Given the description of an element on the screen output the (x, y) to click on. 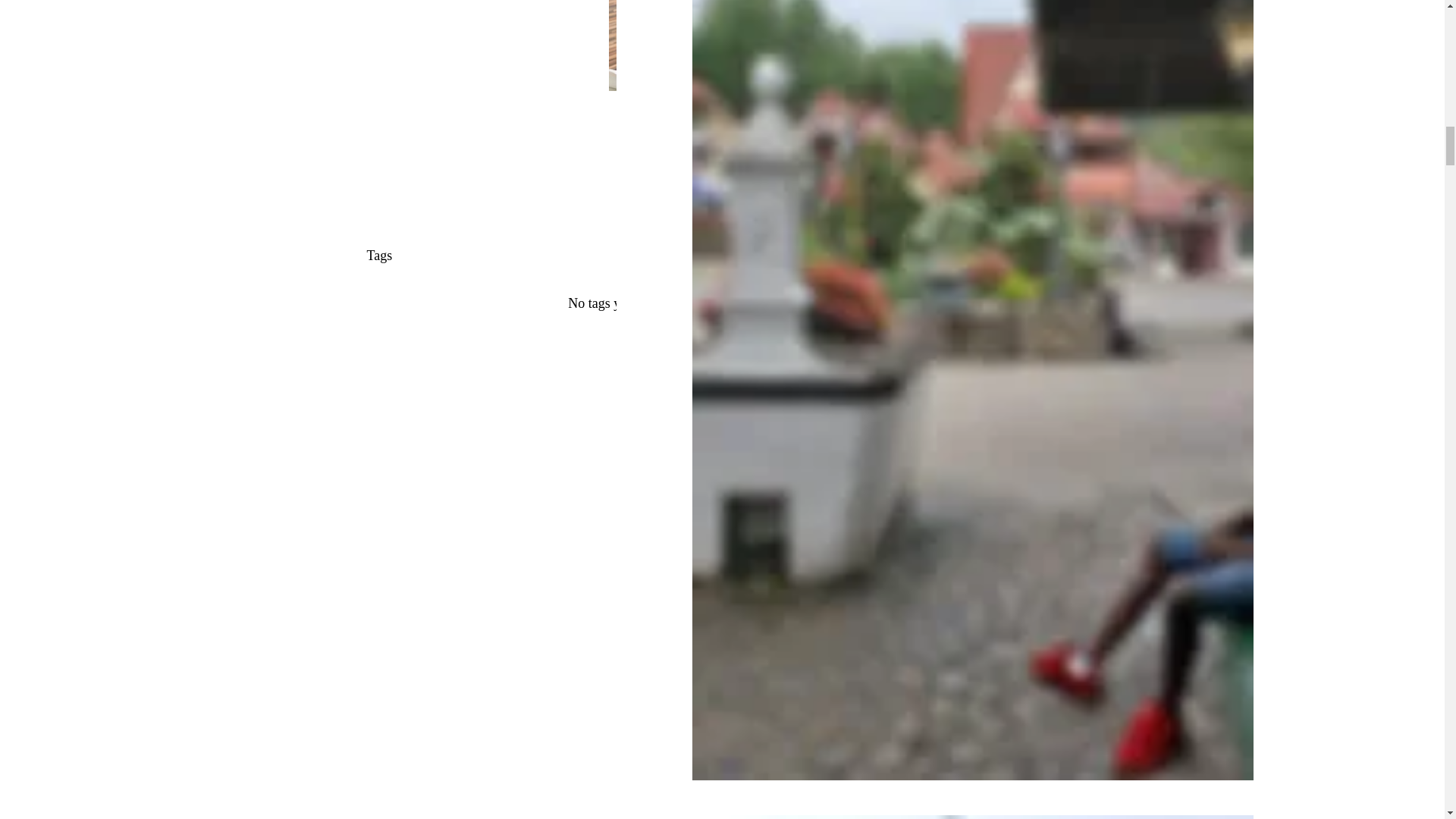
Grow Your Blog Community (964, 99)
